Given the description of an element on the screen output the (x, y) to click on. 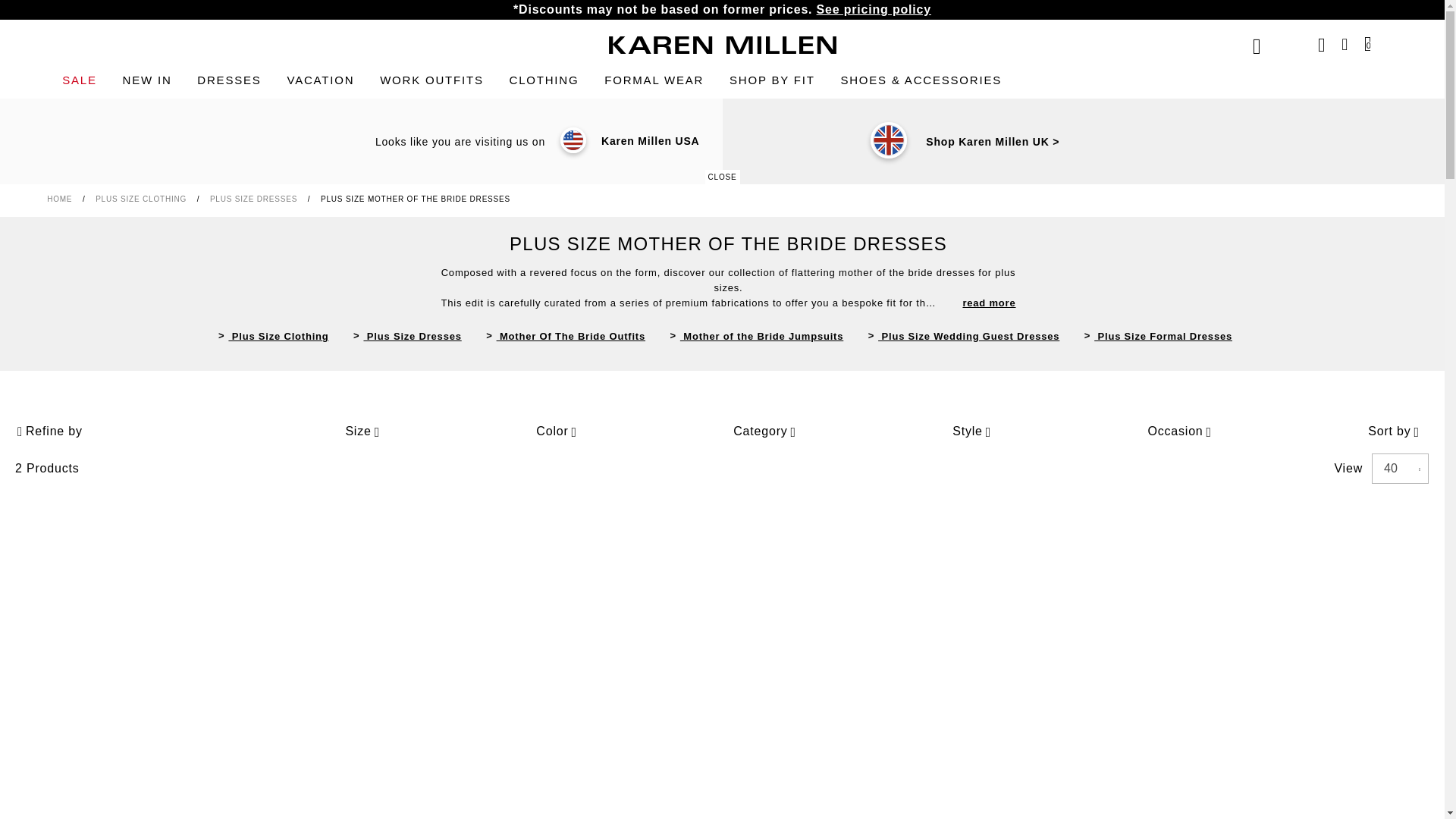
Karen Millen Home (721, 45)
See pricing policy (873, 9)
Go to Plus Size Mother of the Bride Dresses (415, 198)
Go to Plus Size Clothing (142, 198)
SALE (79, 80)
Go to Plus Size Dresses (255, 198)
Go to Home (60, 198)
SEARCH (1256, 46)
